Given the description of an element on the screen output the (x, y) to click on. 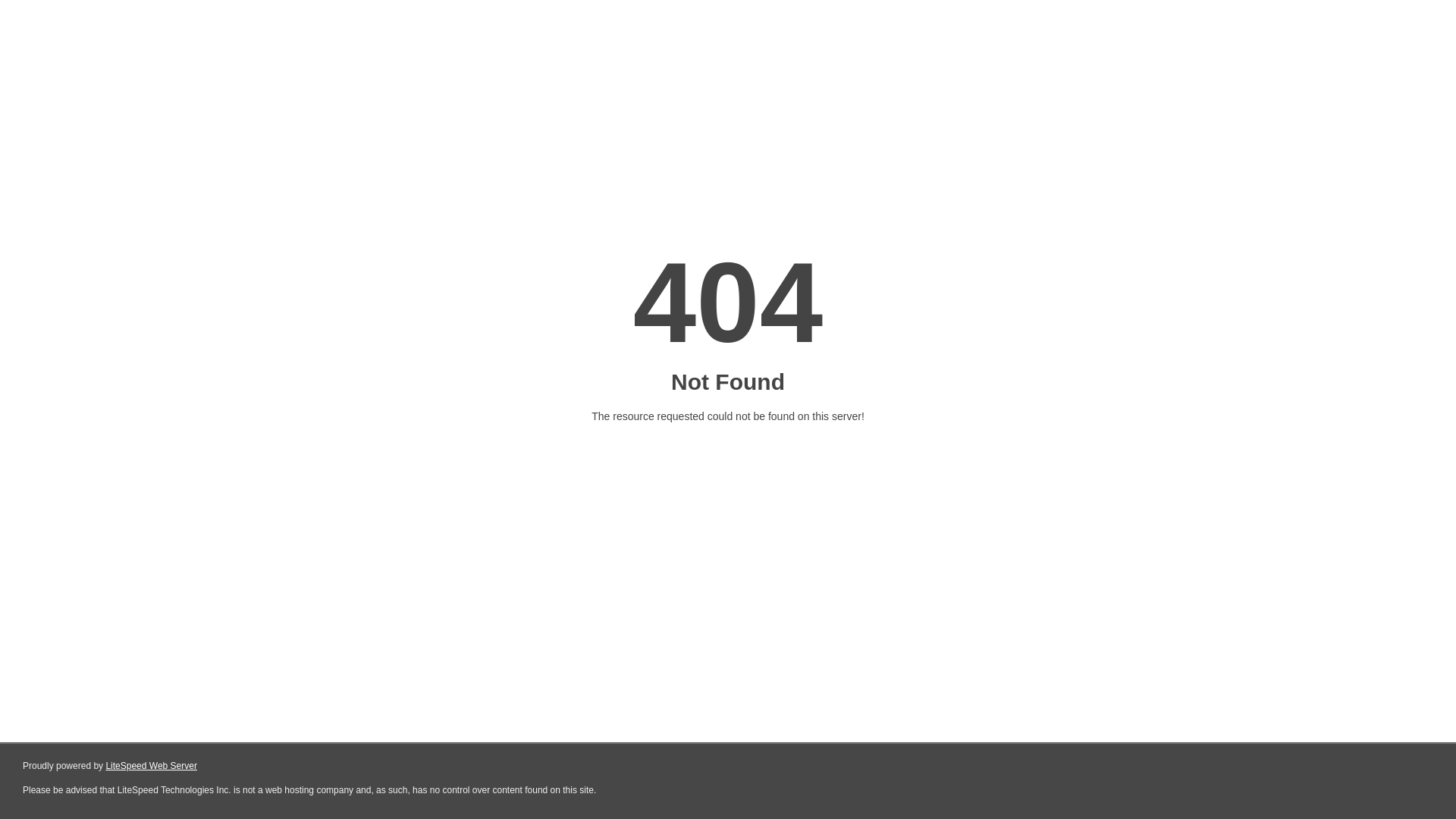
LiteSpeed Web Server Element type: text (151, 765)
